Given the description of an element on the screen output the (x, y) to click on. 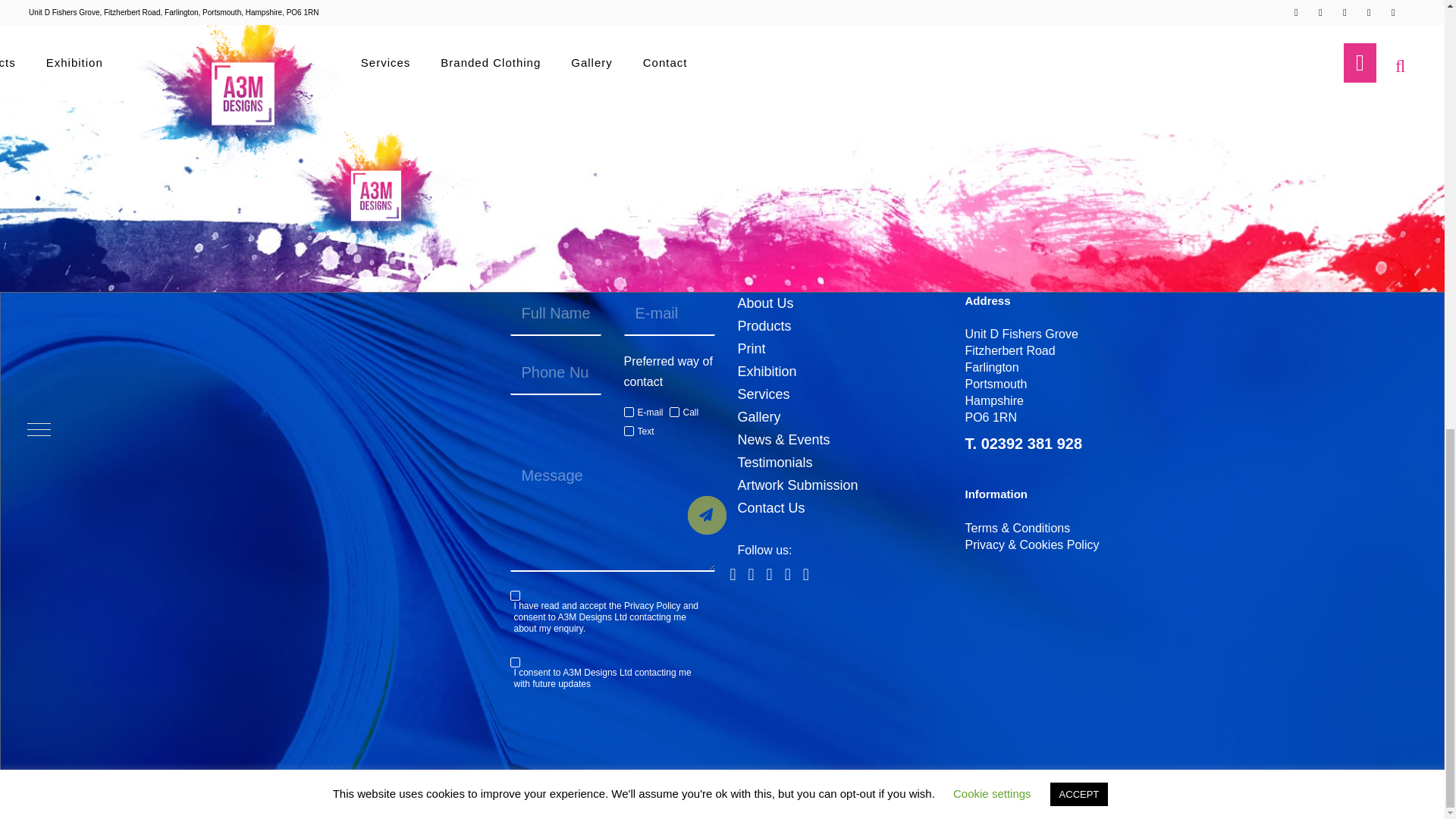
E-mail (642, 412)
Text (638, 431)
Call (683, 412)
